Given the description of an element on the screen output the (x, y) to click on. 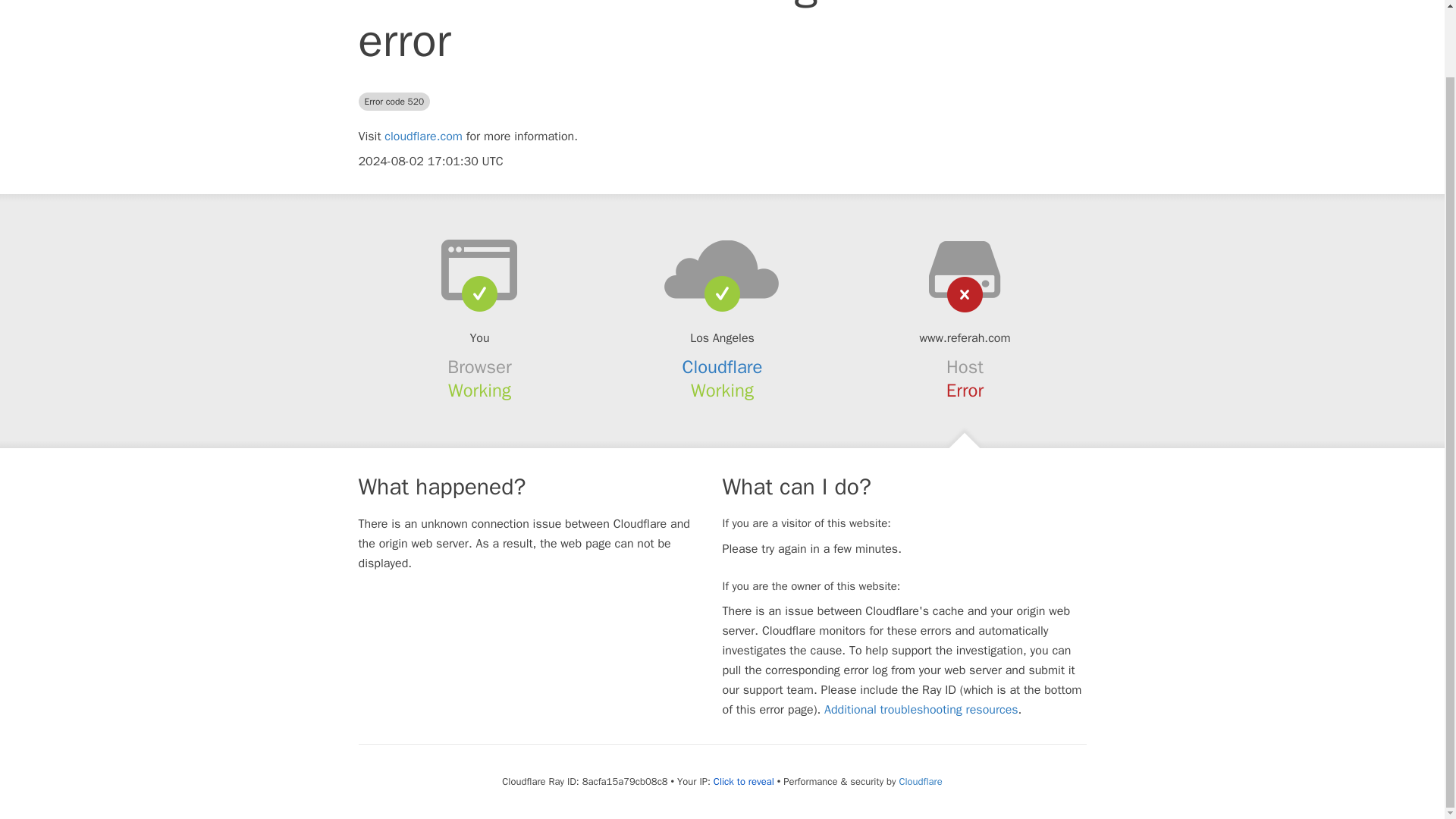
Cloudflare (722, 366)
Cloudflare (920, 780)
cloudflare.com (423, 136)
Click to reveal (743, 781)
Additional troubleshooting resources (920, 709)
